Given the description of an element on the screen output the (x, y) to click on. 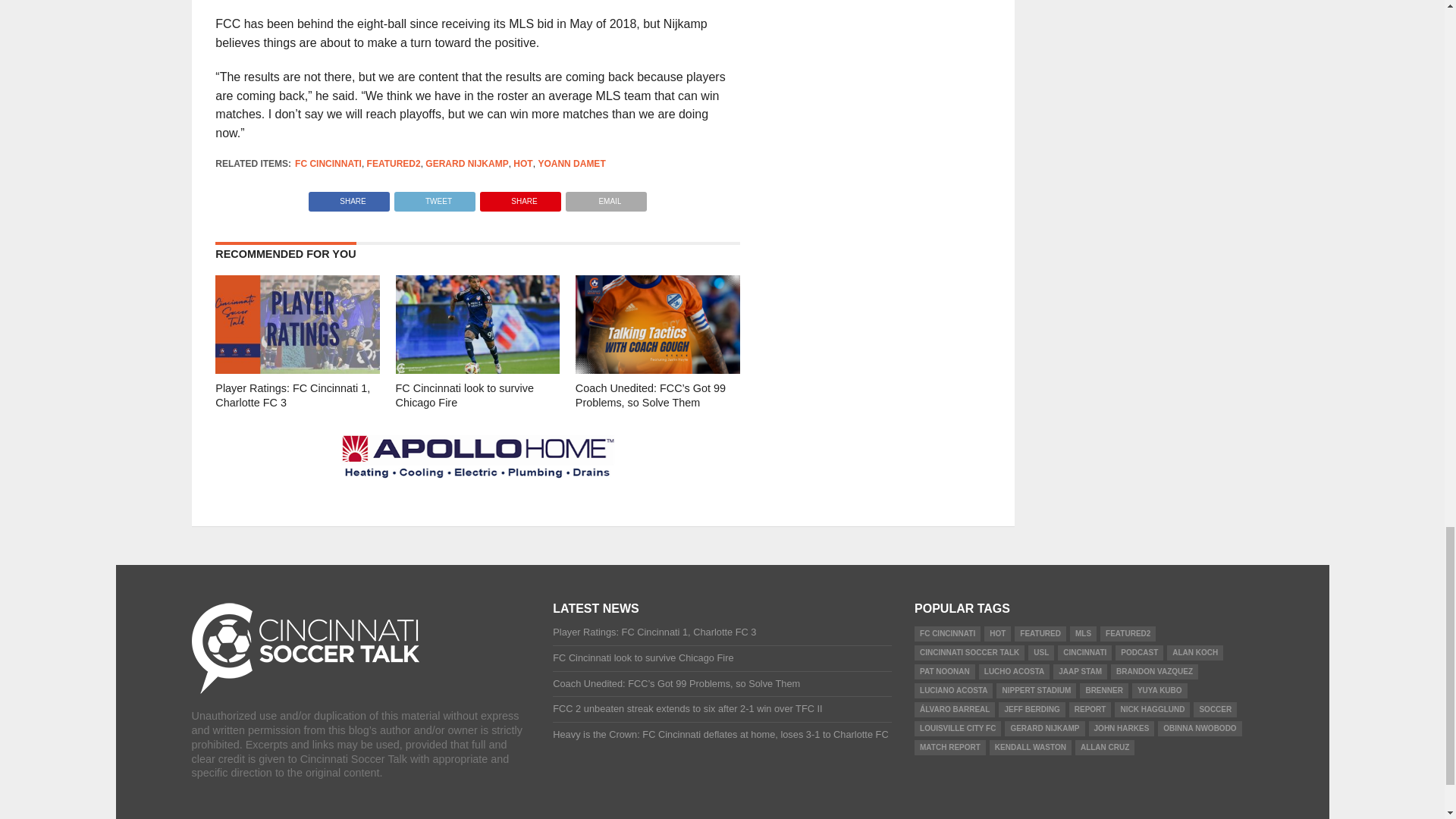
Pin This Post (520, 196)
FC Cincinnati look to survive Chicago Fire (478, 369)
Tweet This Post (434, 196)
Player Ratings: FC Cincinnati 1, Charlotte FC 3 (297, 369)
Share on Facebook (349, 196)
